Given the description of an element on the screen output the (x, y) to click on. 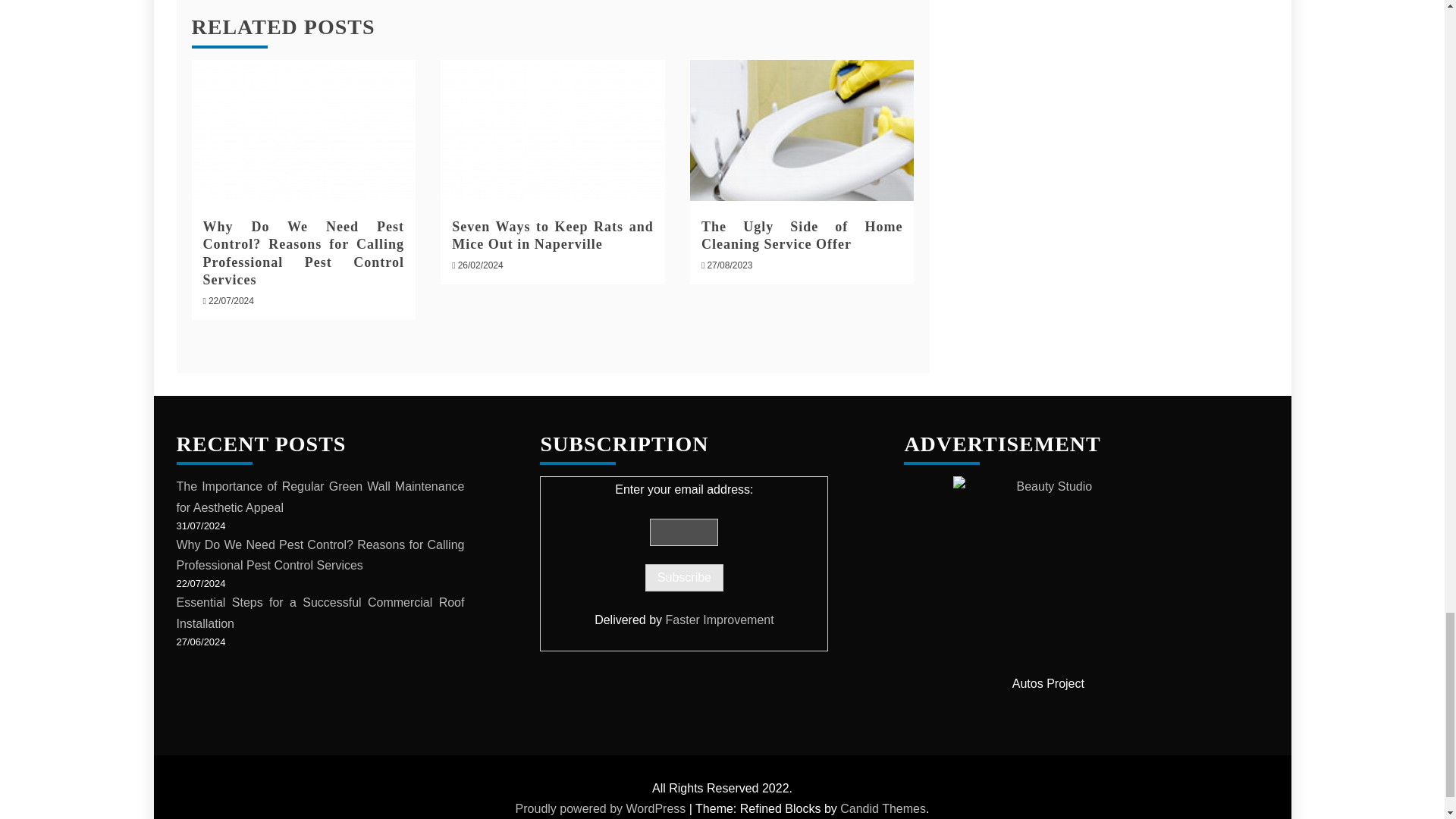
Seven Ways to Keep Rats and Mice Out in Naperville (551, 235)
The Ugly Side of Home Cleaning Service Offer (801, 235)
The Ugly Side of Home Cleaning Service Offer (802, 129)
Subscribe (684, 577)
Seven Ways to Keep Rats and Mice Out in Naperville (552, 129)
